Given the description of an element on the screen output the (x, y) to click on. 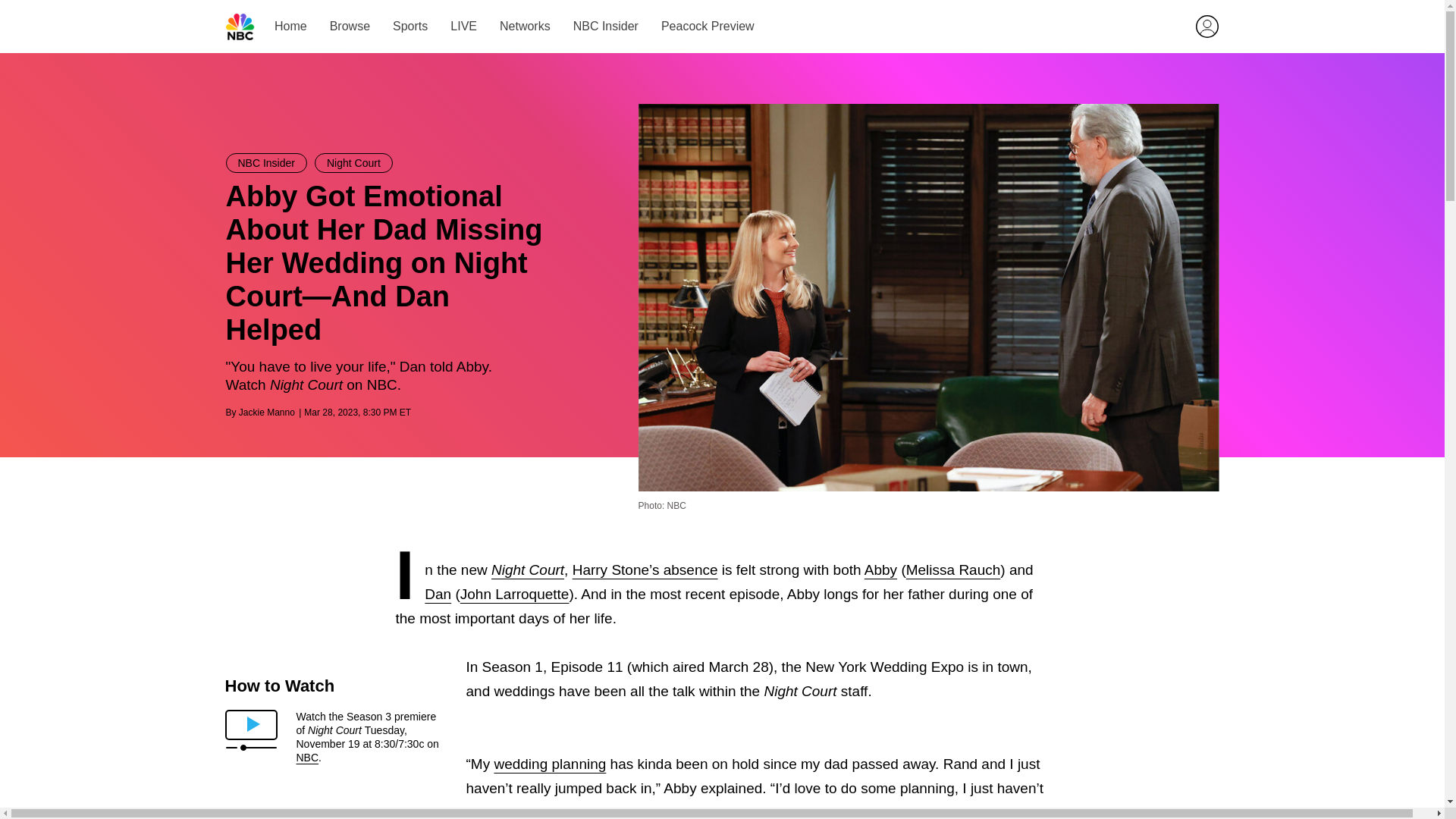
NBC (306, 757)
NBC Insider (604, 26)
LIVE (463, 26)
NBC (239, 26)
Networks (524, 26)
Peacock Preview (707, 26)
Sports (410, 26)
Browse (349, 26)
Abby (880, 569)
Home (291, 26)
NBC Insider (266, 162)
John Larroquette (514, 593)
Jackie Manno (266, 412)
